Given the description of an element on the screen output the (x, y) to click on. 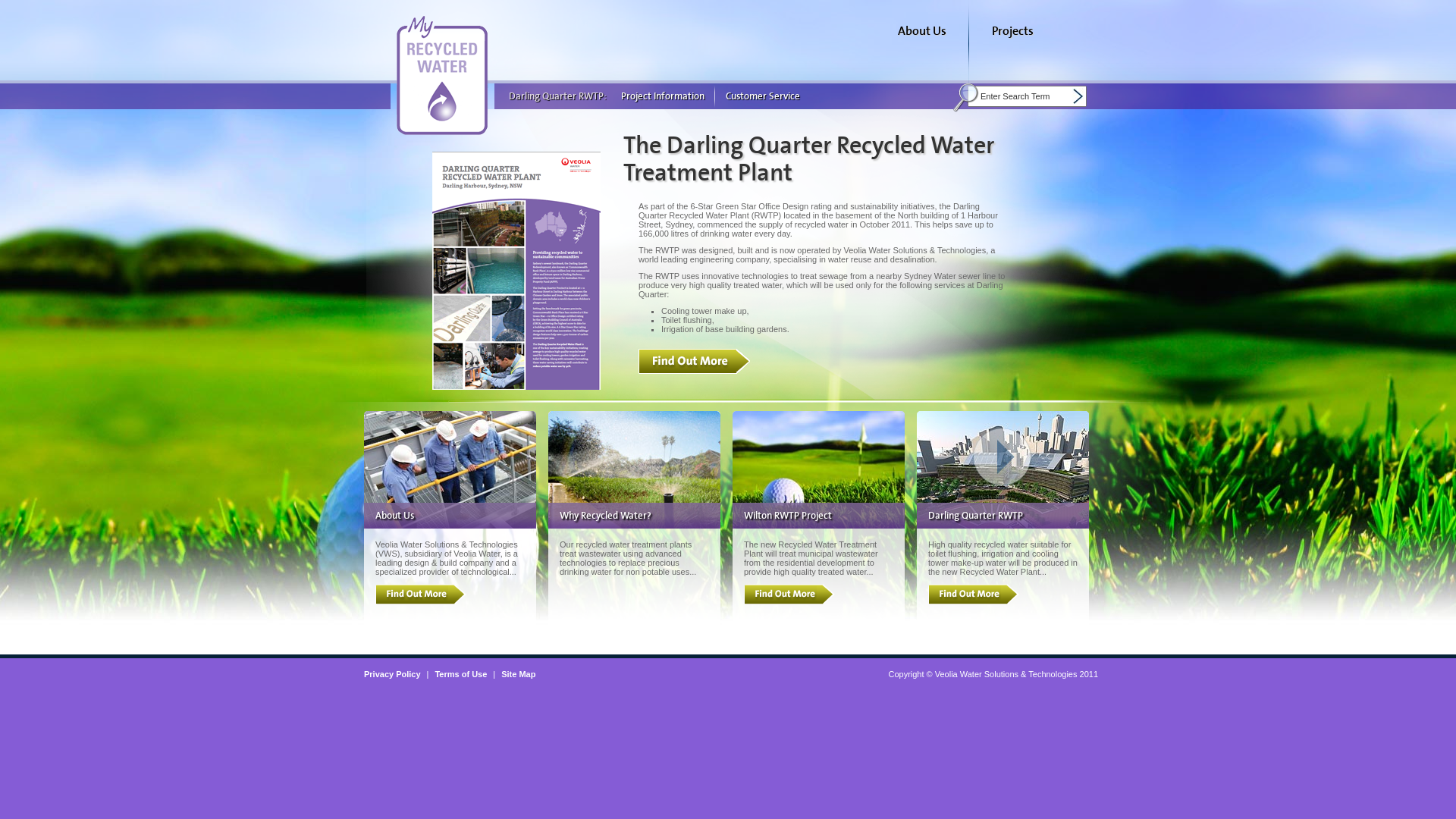
About Us Element type: text (922, 41)
Wilton RWTP Project Element type: text (787, 514)
Project Information Element type: text (662, 96)
Darling Quarter RWTP Element type: text (975, 514)
Privacy Policy Element type: text (395, 673)
Terms of Use Element type: text (463, 673)
Enter Search Term Element type: text (1026, 95)
Customer Service Element type: text (762, 96)
Site Map Element type: text (521, 673)
Projects Element type: text (1012, 41)
About Us Element type: text (394, 514)
